Given the description of an element on the screen output the (x, y) to click on. 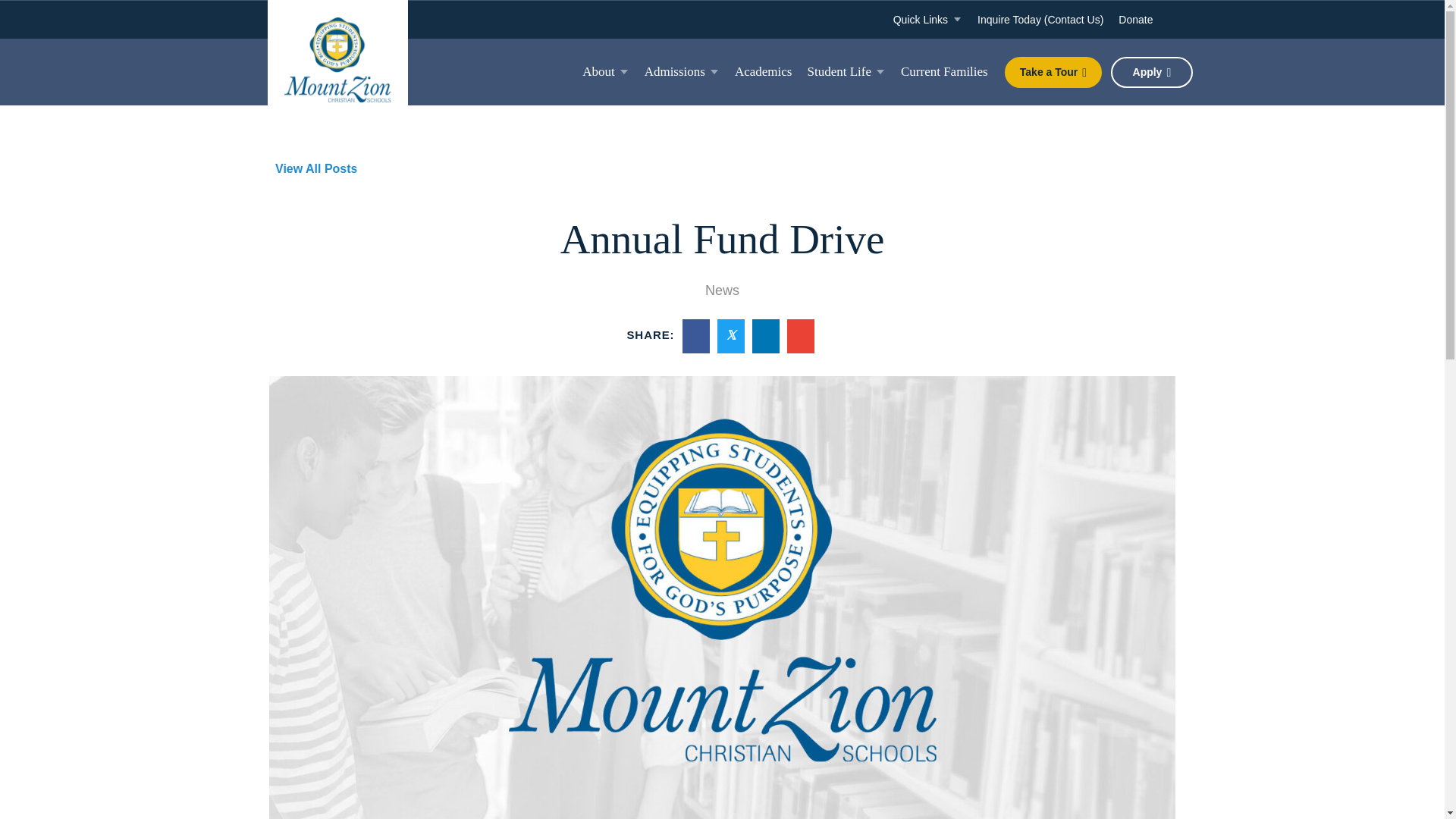
Quick Links (927, 19)
Take a Tour (1052, 71)
header-logo (336, 58)
Student Life (846, 71)
Admissions (681, 71)
Donate (1135, 19)
About (606, 71)
Current Families (944, 71)
Apply (1151, 71)
